Given the description of an element on the screen output the (x, y) to click on. 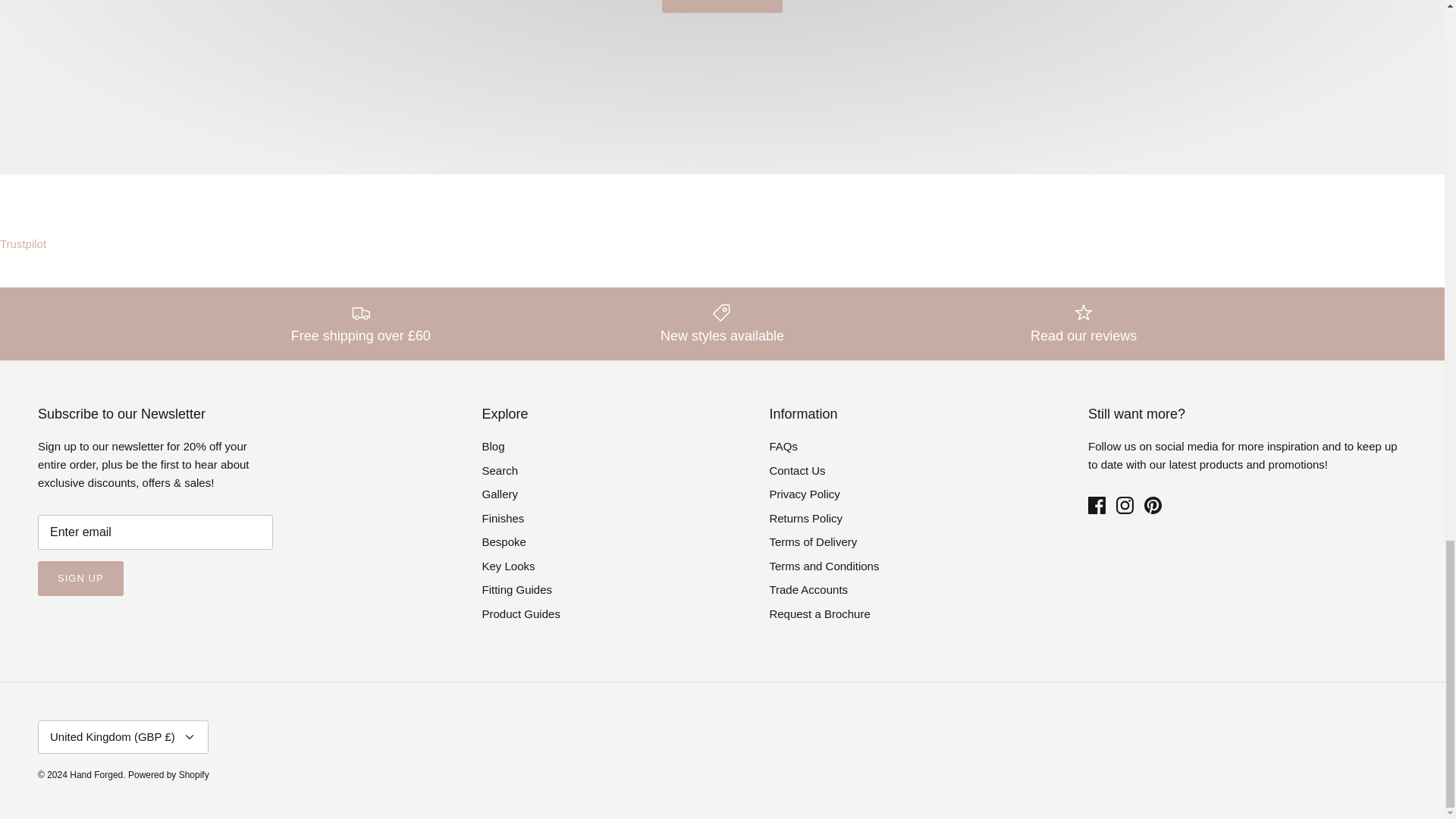
Facebook (1096, 505)
